Given the description of an element on the screen output the (x, y) to click on. 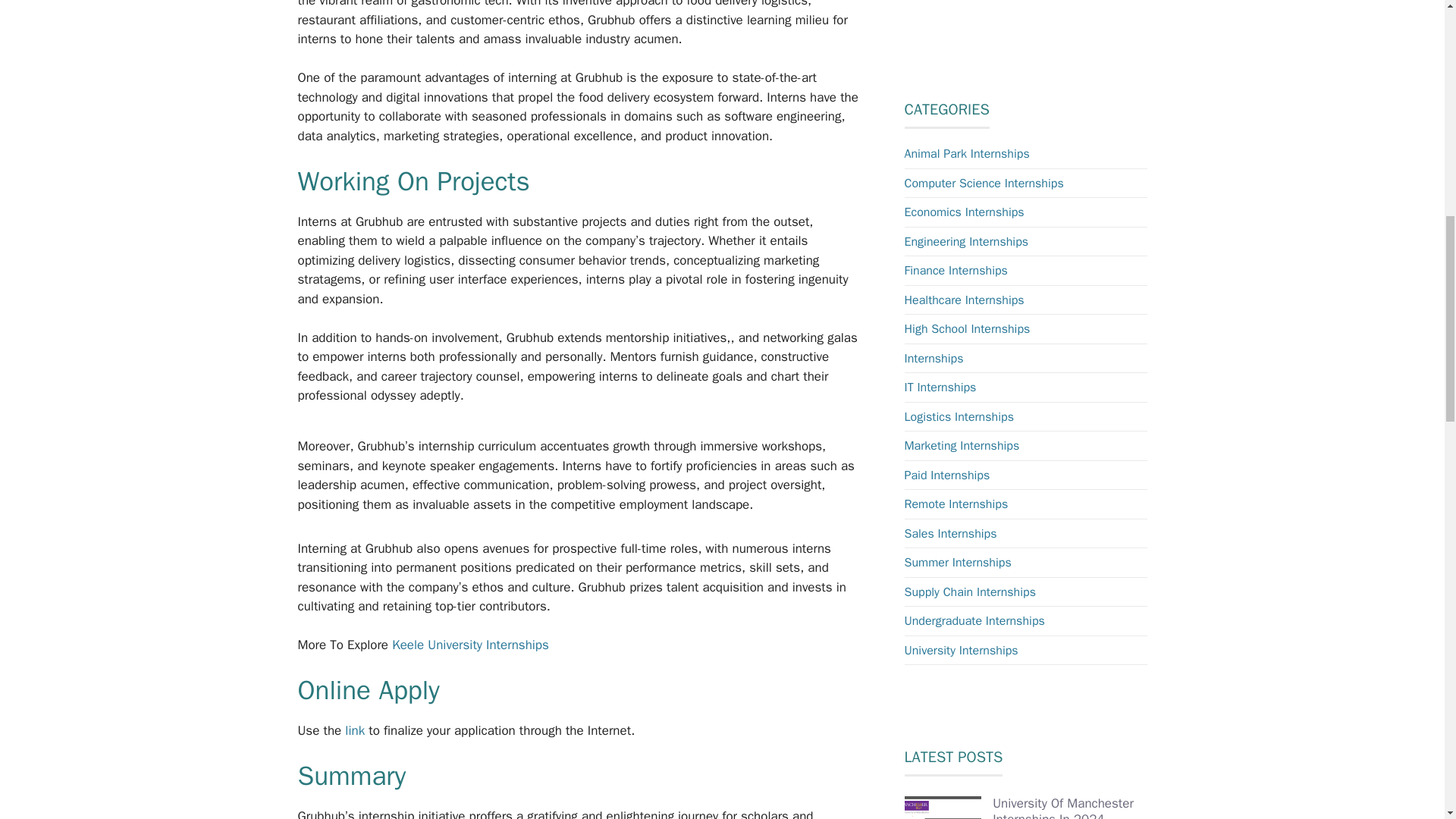
Keele University Internships (469, 644)
Computer Science Internships (983, 183)
IT Internships (939, 387)
Internships (933, 358)
Finance Internships (955, 270)
Logistics Internships (958, 417)
Summer Internships (957, 562)
Remote Internships (955, 503)
High School Internships (966, 328)
Healthcare Internships (963, 299)
Advertisement (1036, 27)
Sales Internships (949, 533)
Economics Internships (963, 212)
Undergraduate Internships (973, 620)
Engineering Internships (965, 241)
